Given the description of an element on the screen output the (x, y) to click on. 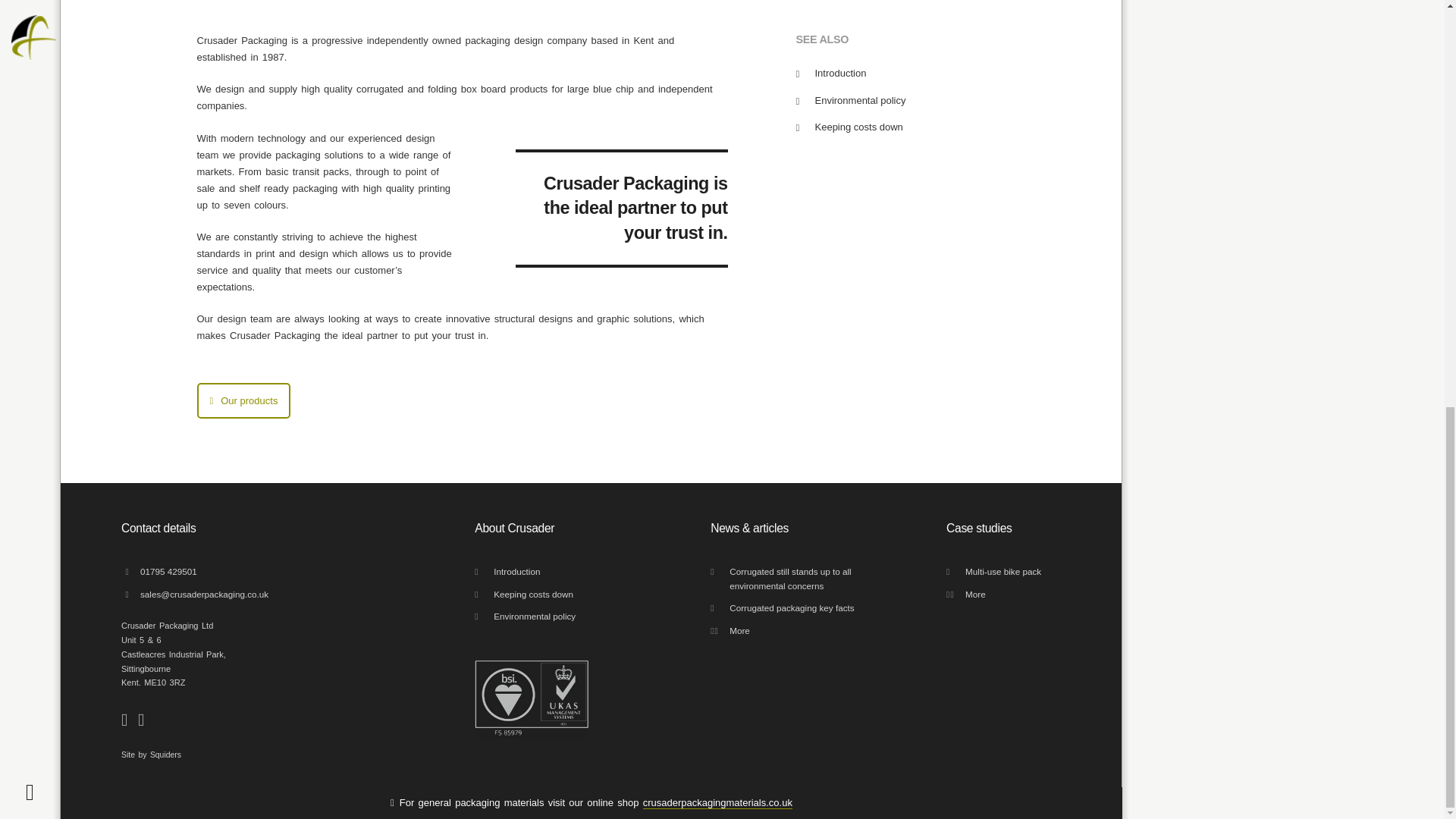
01795 429501 (246, 573)
Environmental policy (859, 100)
About Crusader (561, 529)
Introduction (839, 72)
Keeping costs down (571, 596)
Keeping costs down (857, 126)
Our products (243, 400)
Site by Squiders (236, 755)
Contact details (236, 529)
Introduction (571, 573)
